Given the description of an element on the screen output the (x, y) to click on. 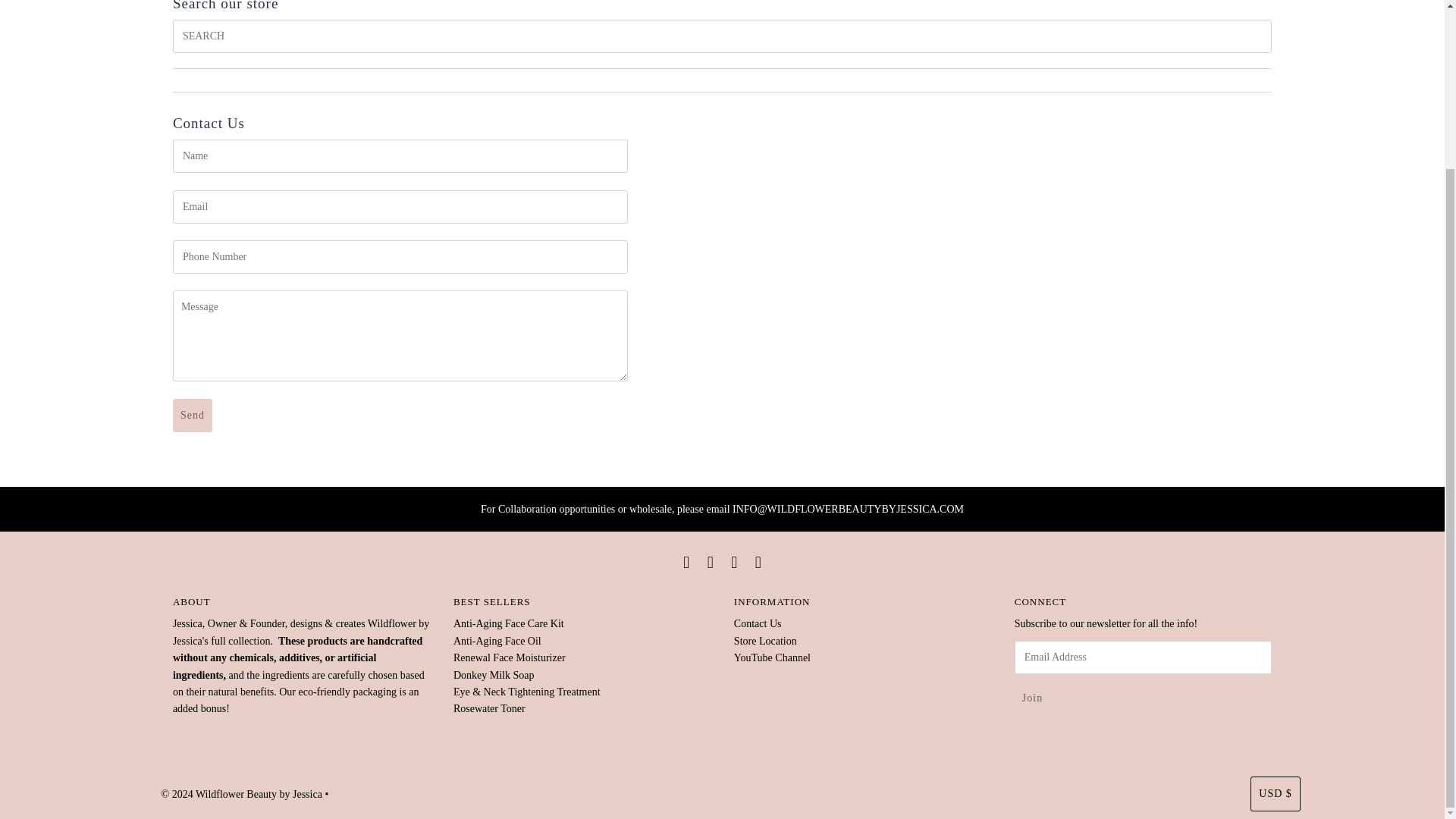
Send (192, 415)
Join (1031, 697)
